Given the description of an element on the screen output the (x, y) to click on. 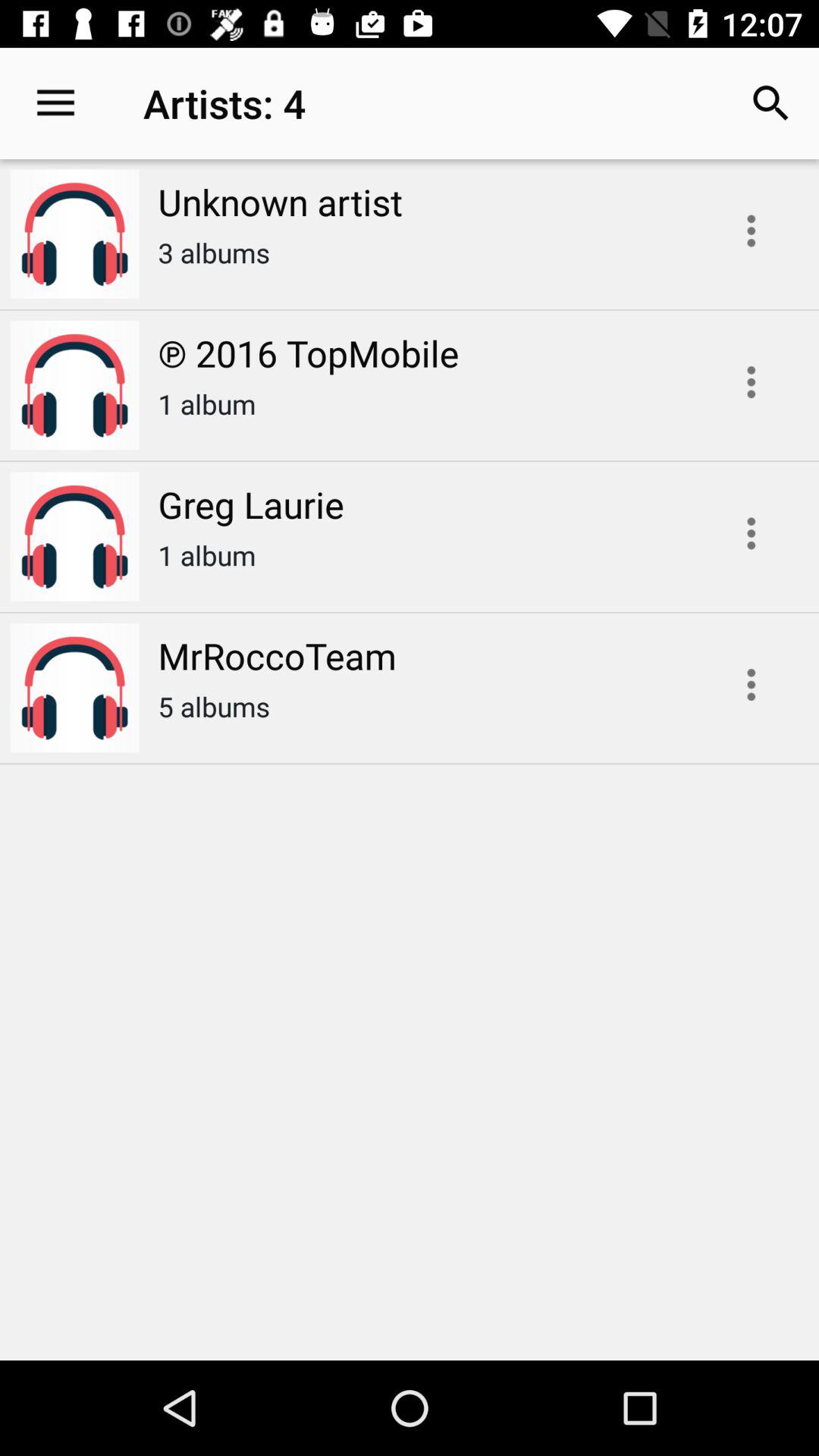
additional options (750, 533)
